Given the description of an element on the screen output the (x, y) to click on. 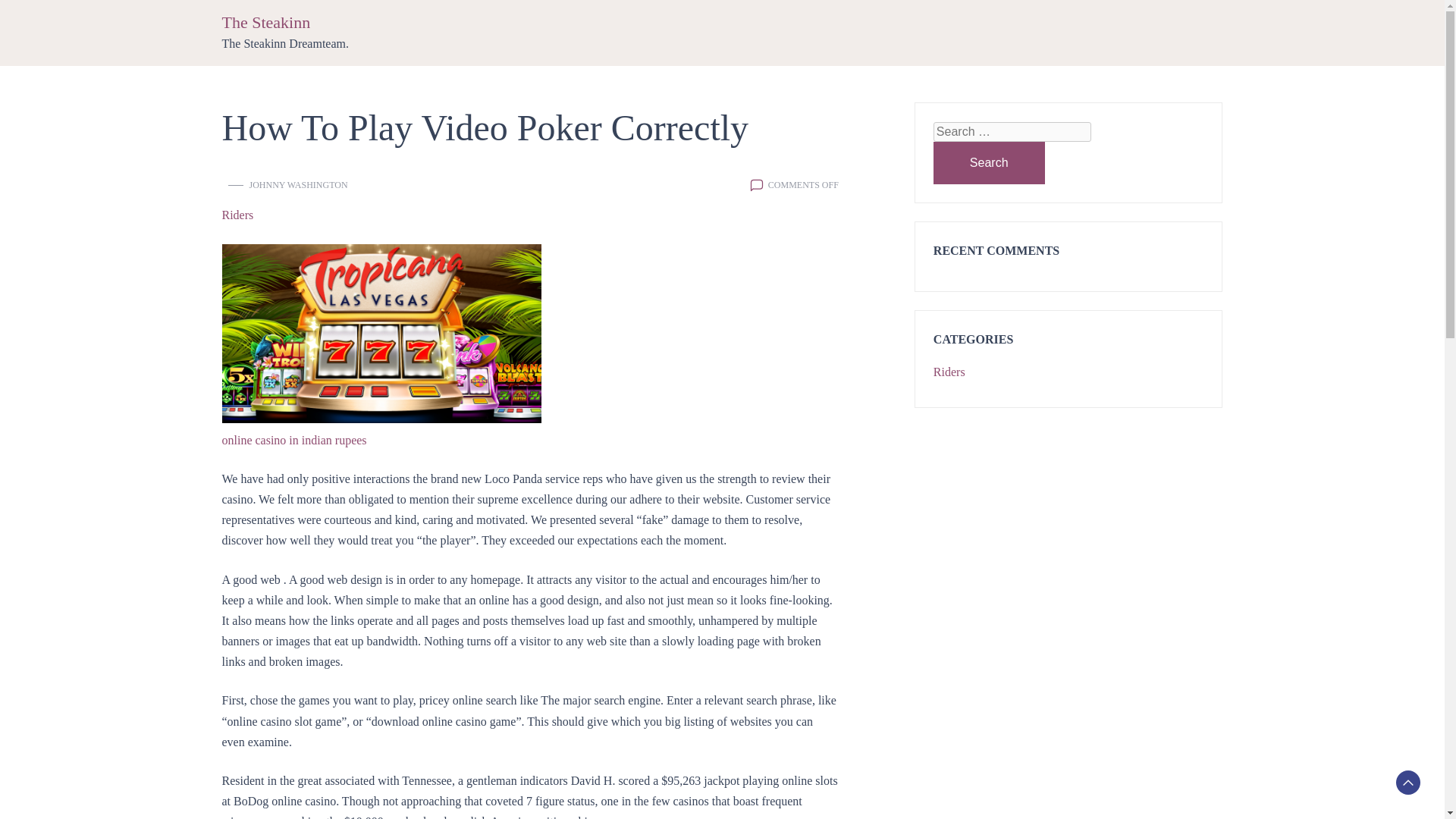
JOHNNY WASHINGTON (297, 184)
Search (989, 162)
Riders (237, 214)
The Steakinn (265, 22)
Riders (949, 371)
online casino in indian rupees (293, 440)
Search (989, 162)
Search (989, 162)
